Given the description of an element on the screen output the (x, y) to click on. 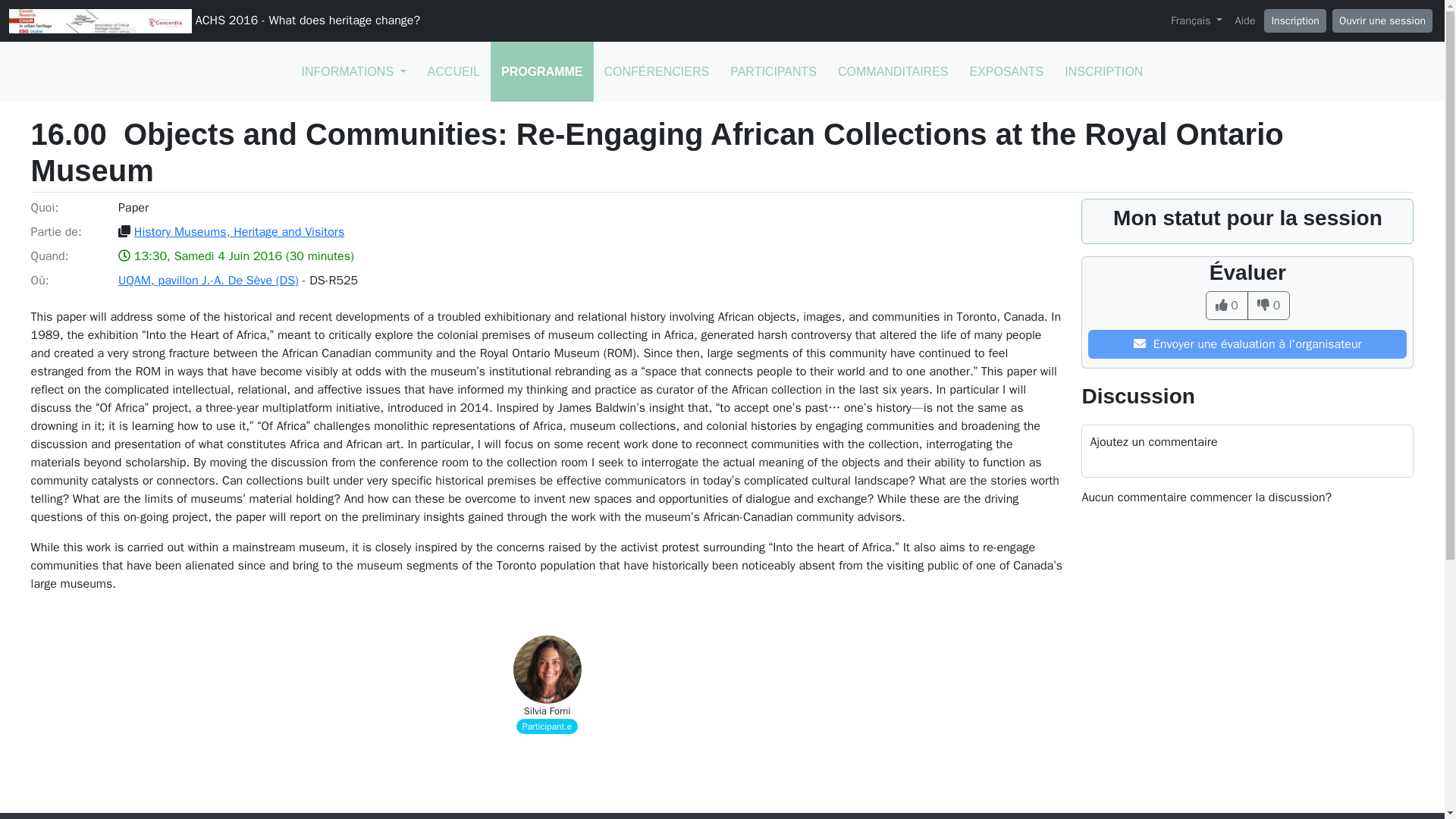
ACHS 2016 - What does heritage change? (214, 21)
PROGRAMME (542, 71)
Ouvrir une session (1382, 20)
ACCUEIL (453, 71)
Silvia Forni (547, 711)
Inscription (1293, 20)
0 (1268, 305)
Aide (1244, 21)
EXPOSANTS (1006, 71)
PARTICIPANTS (773, 71)
INFORMATIONS (353, 71)
0 (1226, 305)
INSCRIPTION (1103, 71)
COMMANDITAIRES (892, 71)
History Museums, Heritage and Visitors (238, 231)
